Given the description of an element on the screen output the (x, y) to click on. 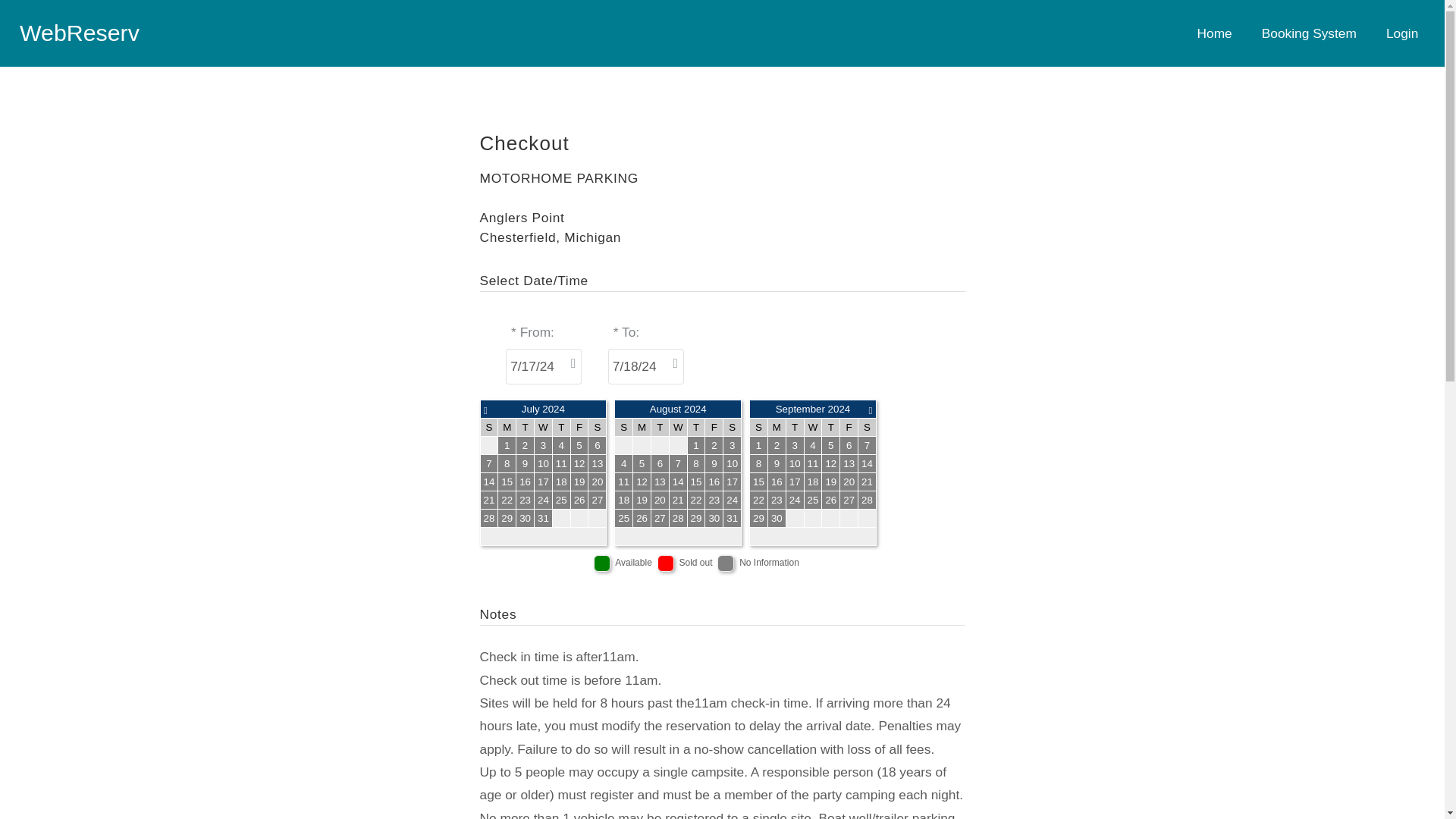
Home (1213, 32)
Anglers Point (521, 217)
Login (1402, 32)
WebReserv (79, 33)
Booking System (1309, 32)
